Given the description of an element on the screen output the (x, y) to click on. 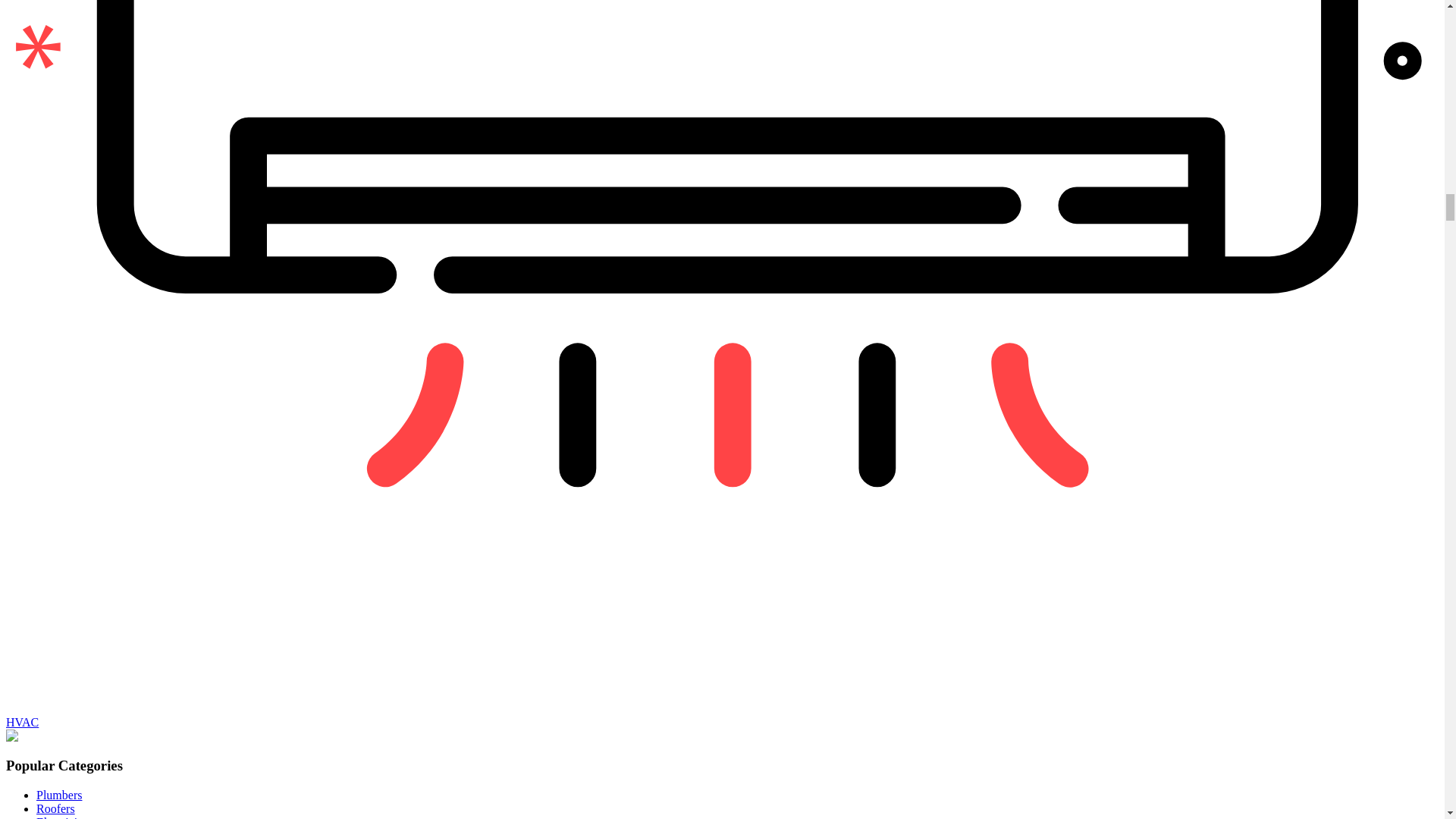
Electricians (65, 817)
Roofers (55, 808)
Plumbers (58, 794)
